Given the description of an element on the screen output the (x, y) to click on. 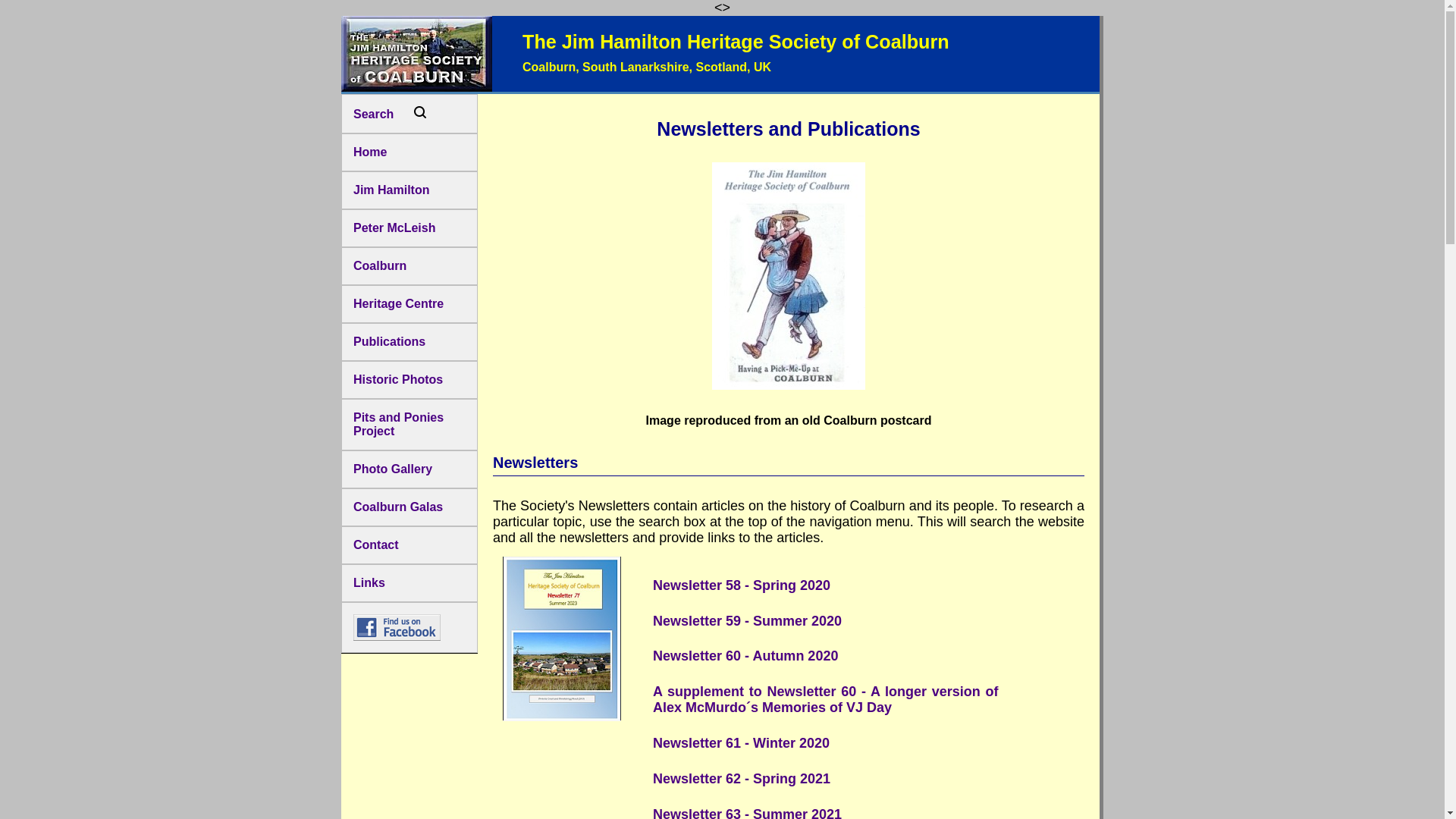
Home (408, 152)
Publications (408, 341)
Photo Gallery (408, 469)
Jim Hamilton (408, 190)
Coalburn (408, 266)
Historic Photos (408, 379)
Newsletter 60 - Autumn 2020 (825, 655)
Newsletter 58 - Spring 2020 (825, 585)
Heritage Centre (408, 303)
Top banner of page (719, 54)
Links (408, 582)
Newsletter 59 - Summer 2020 (825, 621)
Peter McLeish (408, 228)
Newsletter 63 - Summer 2021 (825, 809)
Coalburn Galas (408, 507)
